Given the description of an element on the screen output the (x, y) to click on. 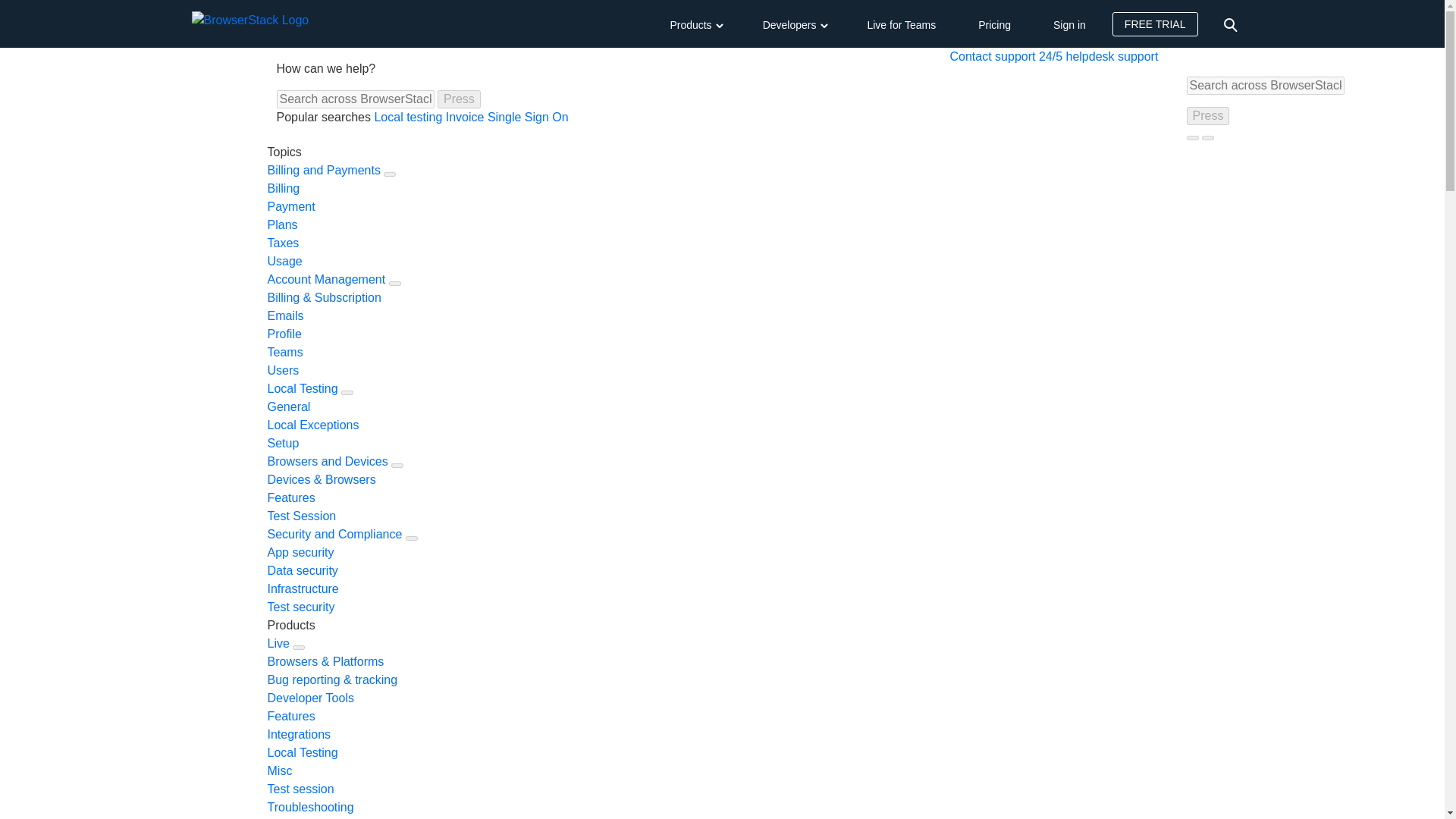
Products (694, 23)
BrowserStack Logo (261, 23)
